Given the description of an element on the screen output the (x, y) to click on. 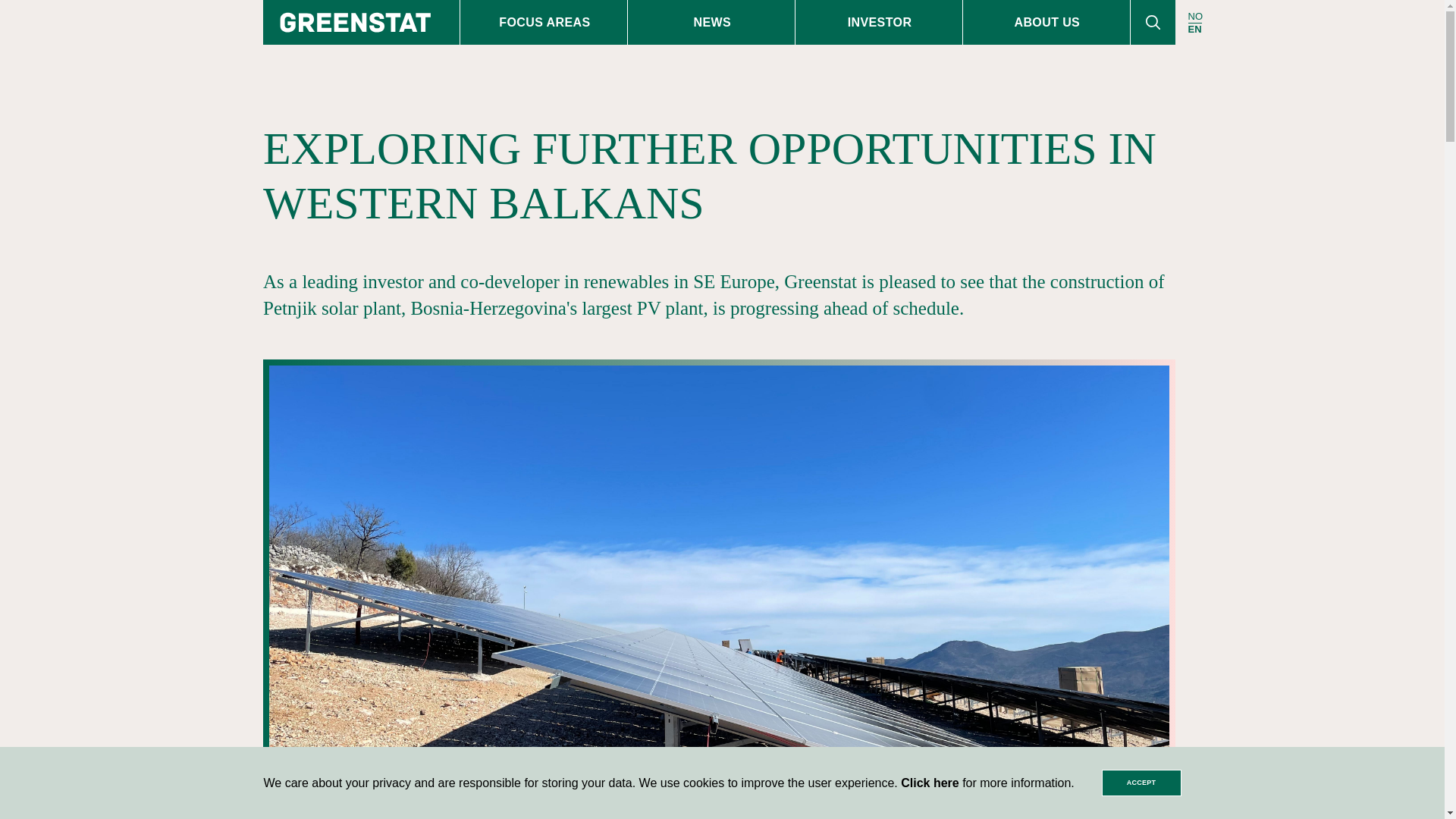
FOCUS AREAS (543, 22)
NEWS (710, 22)
INVESTOR (878, 22)
ABOUT US (1045, 22)
